Given the description of an element on the screen output the (x, y) to click on. 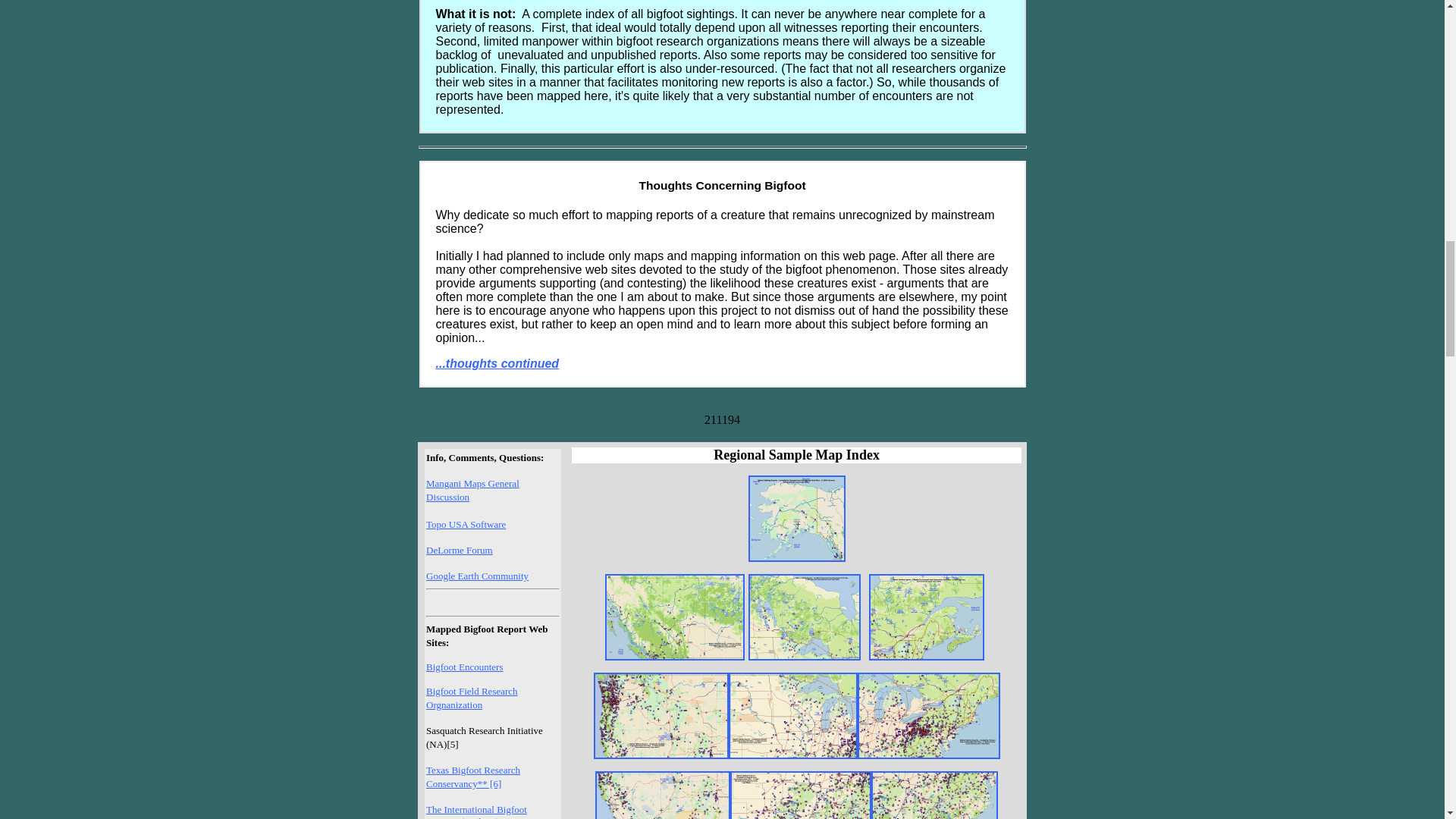
Topo USA Software (465, 522)
DeLorme Forum (459, 549)
Bigfoot Encounters (464, 666)
...thoughts continued (497, 363)
Google Earth Community (477, 580)
Mangani Maps General Discussion (472, 488)
Bigfoot Field Research Orgnanization (472, 696)
